Given the description of an element on the screen output the (x, y) to click on. 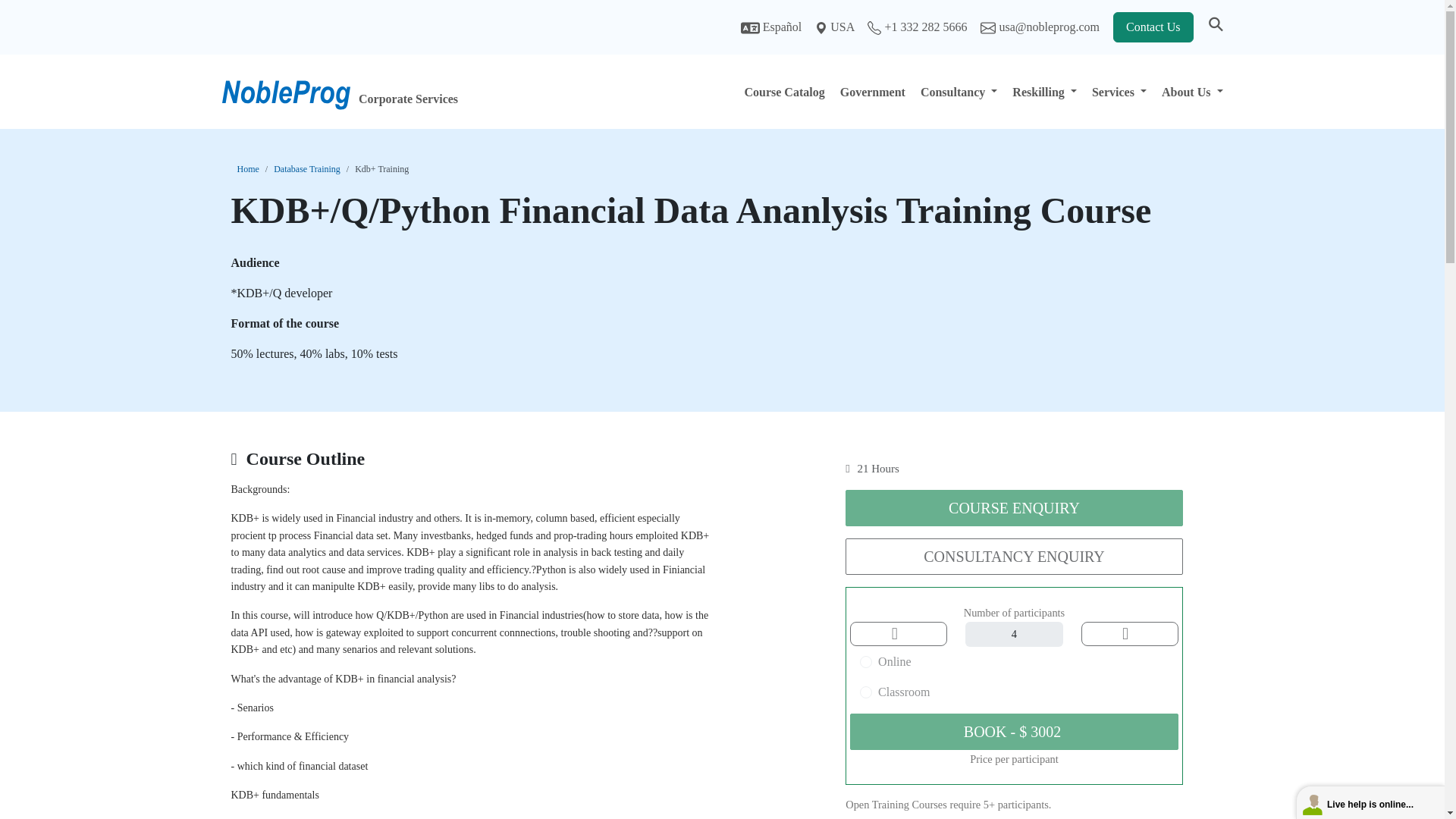
Contact Us (1153, 27)
Corporate Services (435, 91)
Government (872, 91)
Course Catalog (784, 91)
Phone numer for contact us (918, 26)
Corporate Services (367, 90)
Reskilling (1044, 91)
Contact us by email (1040, 26)
search (1215, 26)
USA (836, 26)
